Given the description of an element on the screen output the (x, y) to click on. 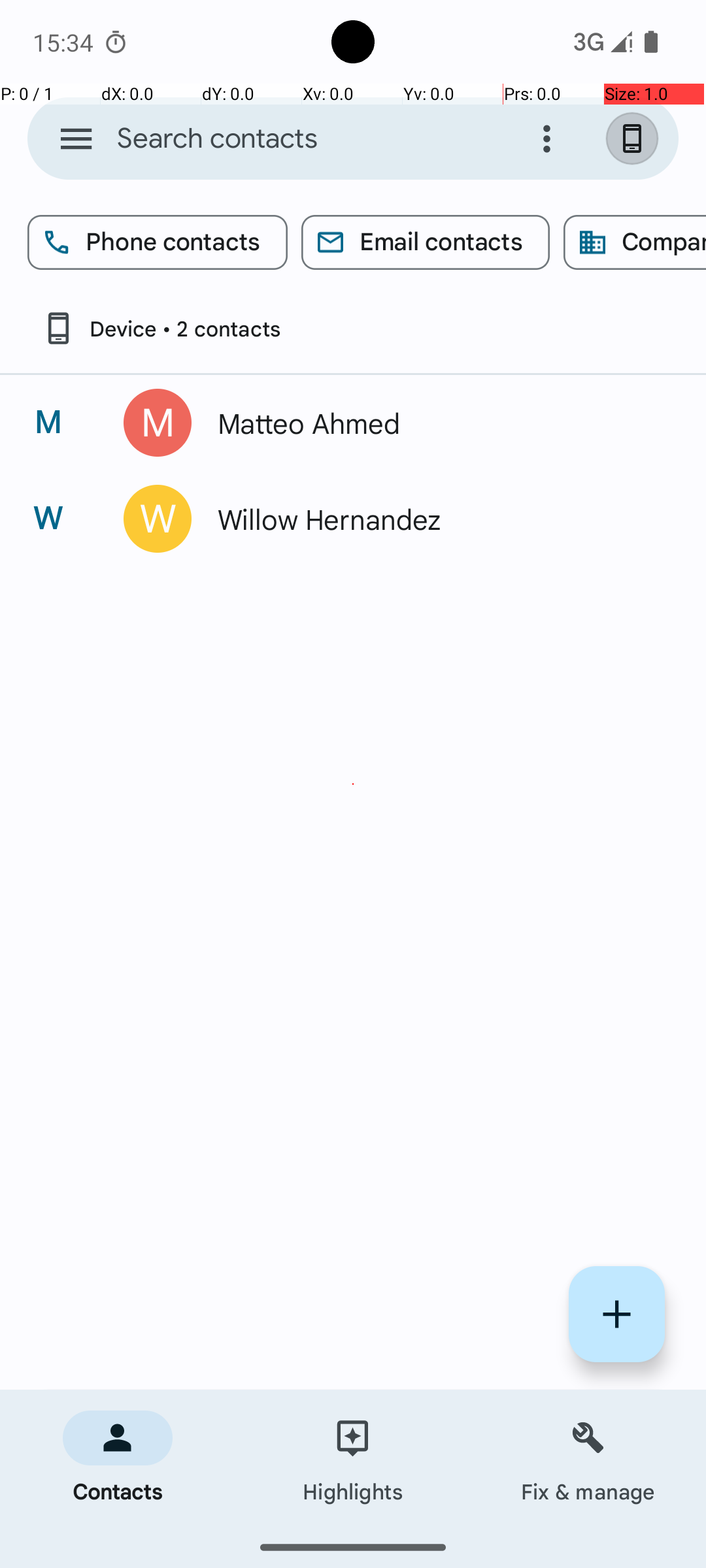
Device • 2 contacts Element type: android.widget.TextView (161, 328)
Matteo Ahmed Element type: android.widget.TextView (434, 422)
Willow Hernandez Element type: android.widget.TextView (434, 518)
